Given the description of an element on the screen output the (x, y) to click on. 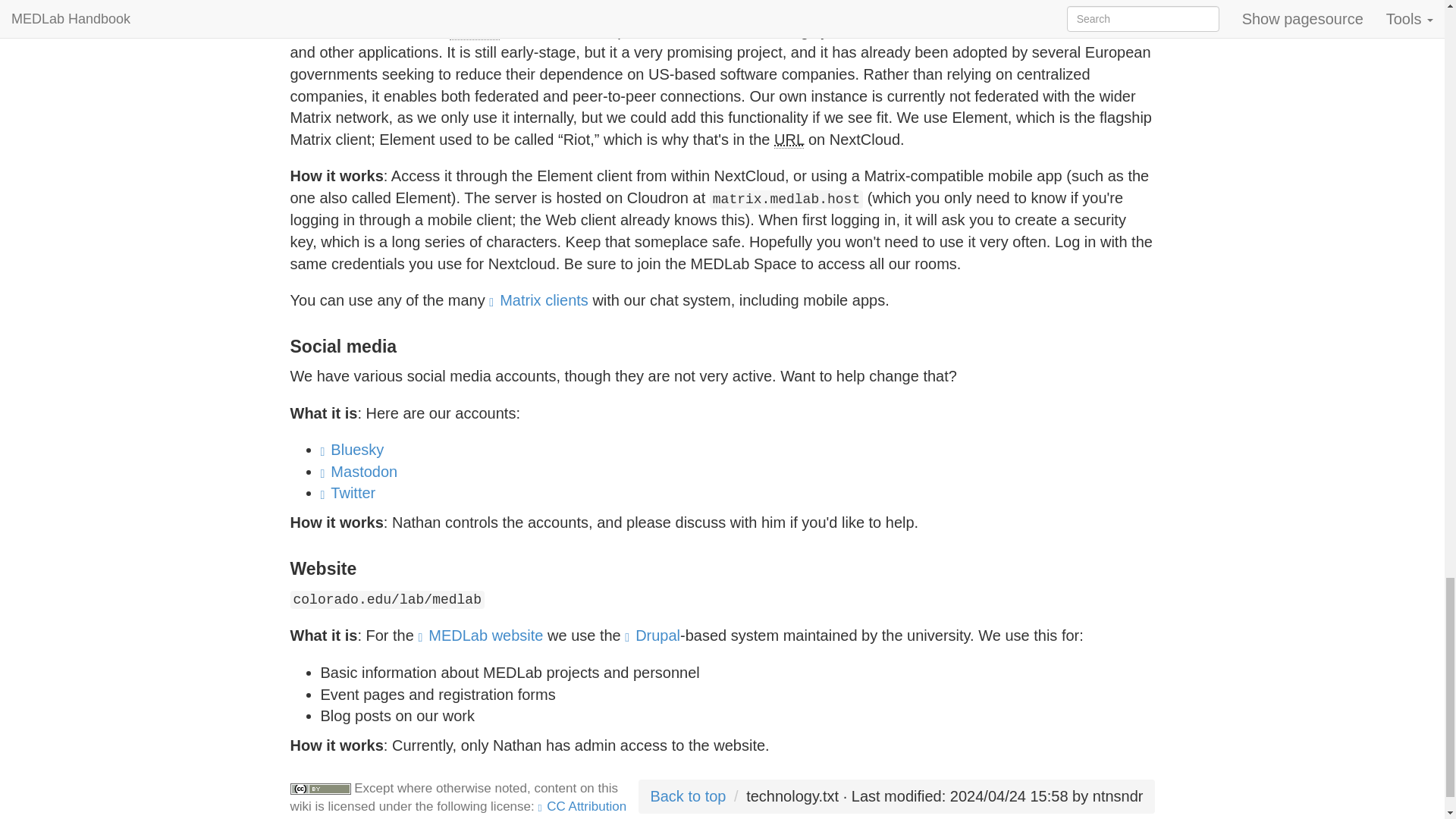
Matrix (391, 30)
